Given the description of an element on the screen output the (x, y) to click on. 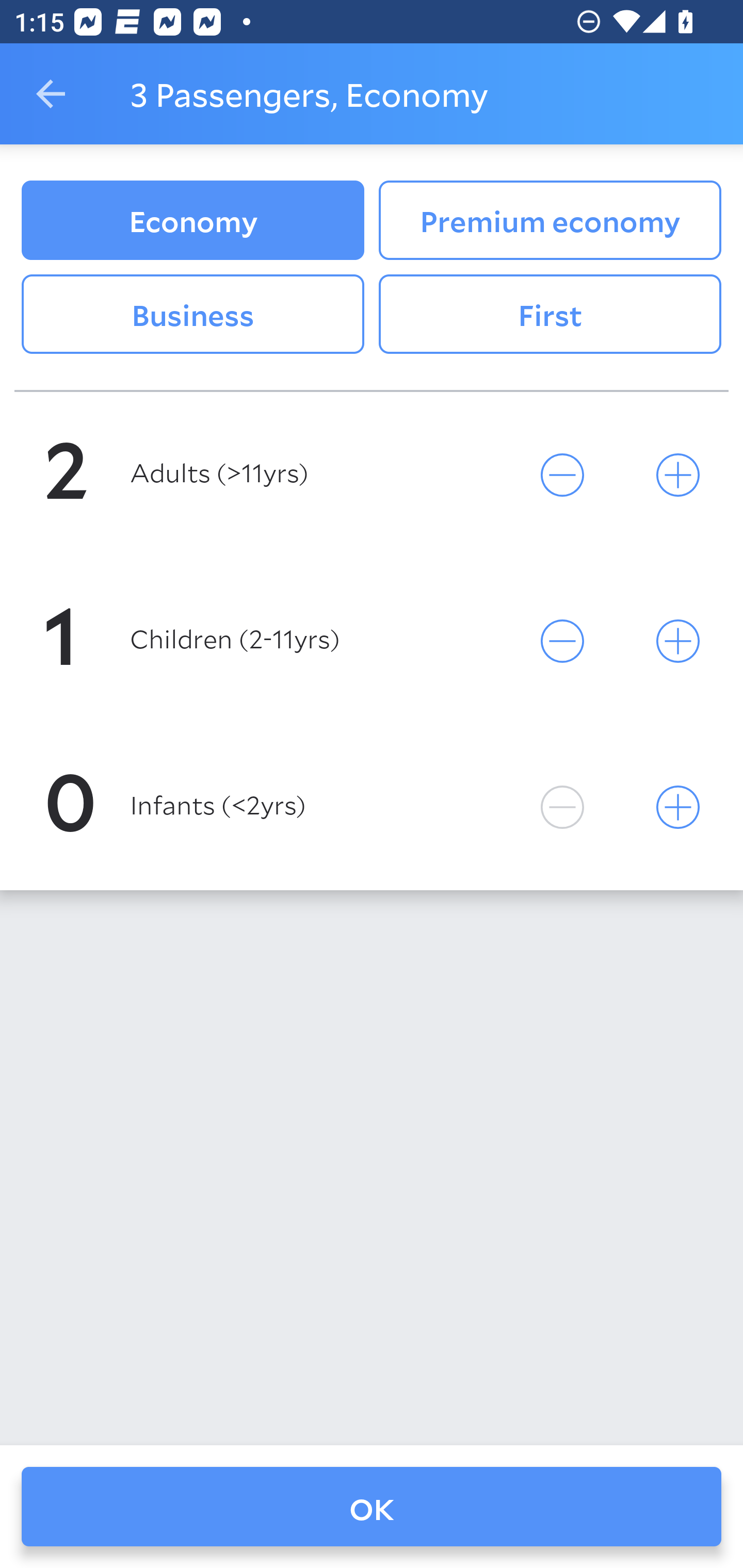
Navigate up (50, 93)
Economy (192, 220)
Premium economy (549, 220)
Business (192, 314)
First (549, 314)
OK (371, 1506)
